Given the description of an element on the screen output the (x, y) to click on. 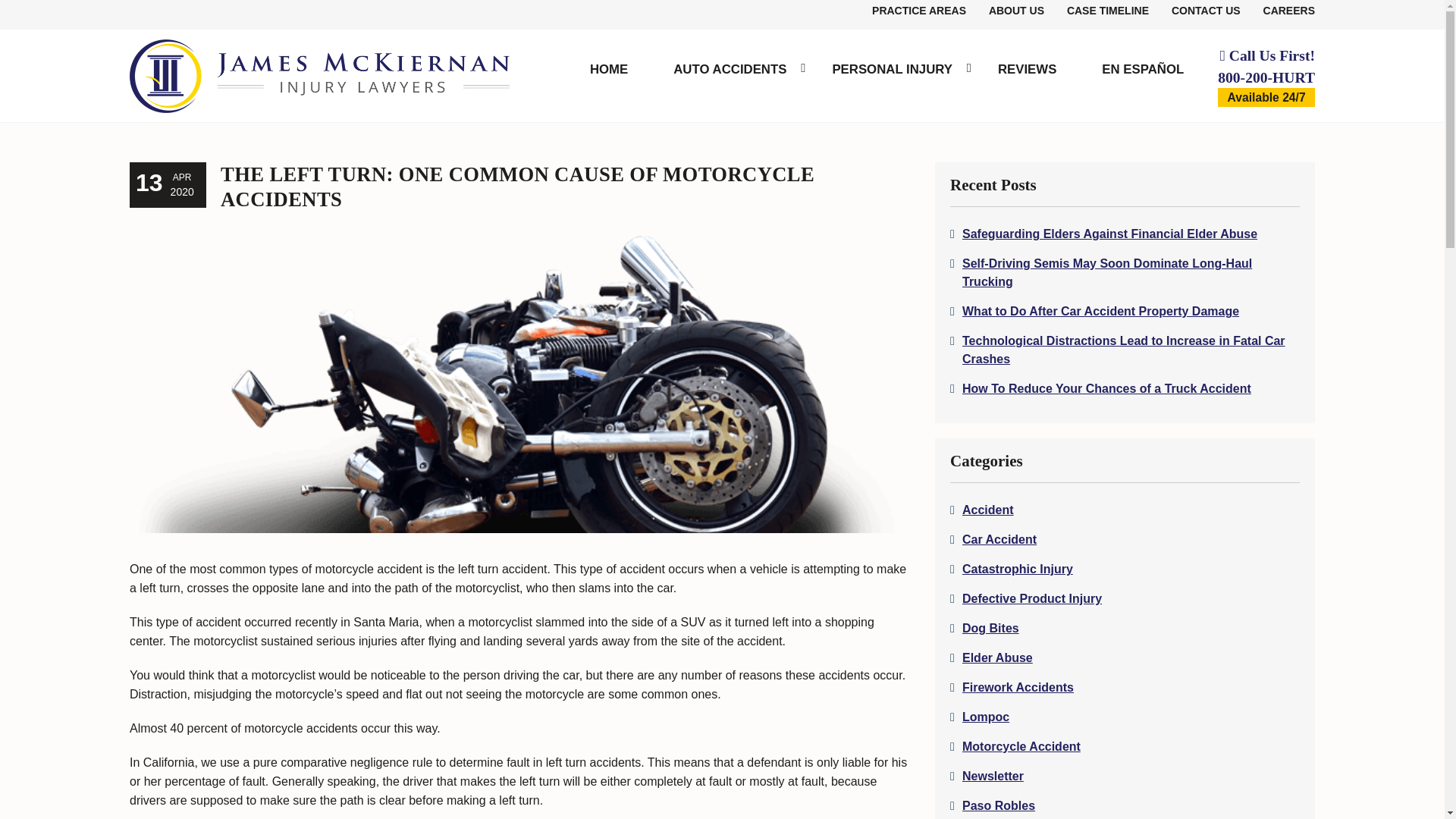
CAREERS (1288, 10)
CONTACT US (1206, 10)
CASE TIMELINE (1107, 10)
HOME (608, 71)
REVIEWS (1026, 71)
ABOUT US (1015, 10)
PRACTICE AREAS (919, 10)
AUTO ACCIDENTS (729, 71)
PERSONAL INJURY (892, 71)
